Given the description of an element on the screen output the (x, y) to click on. 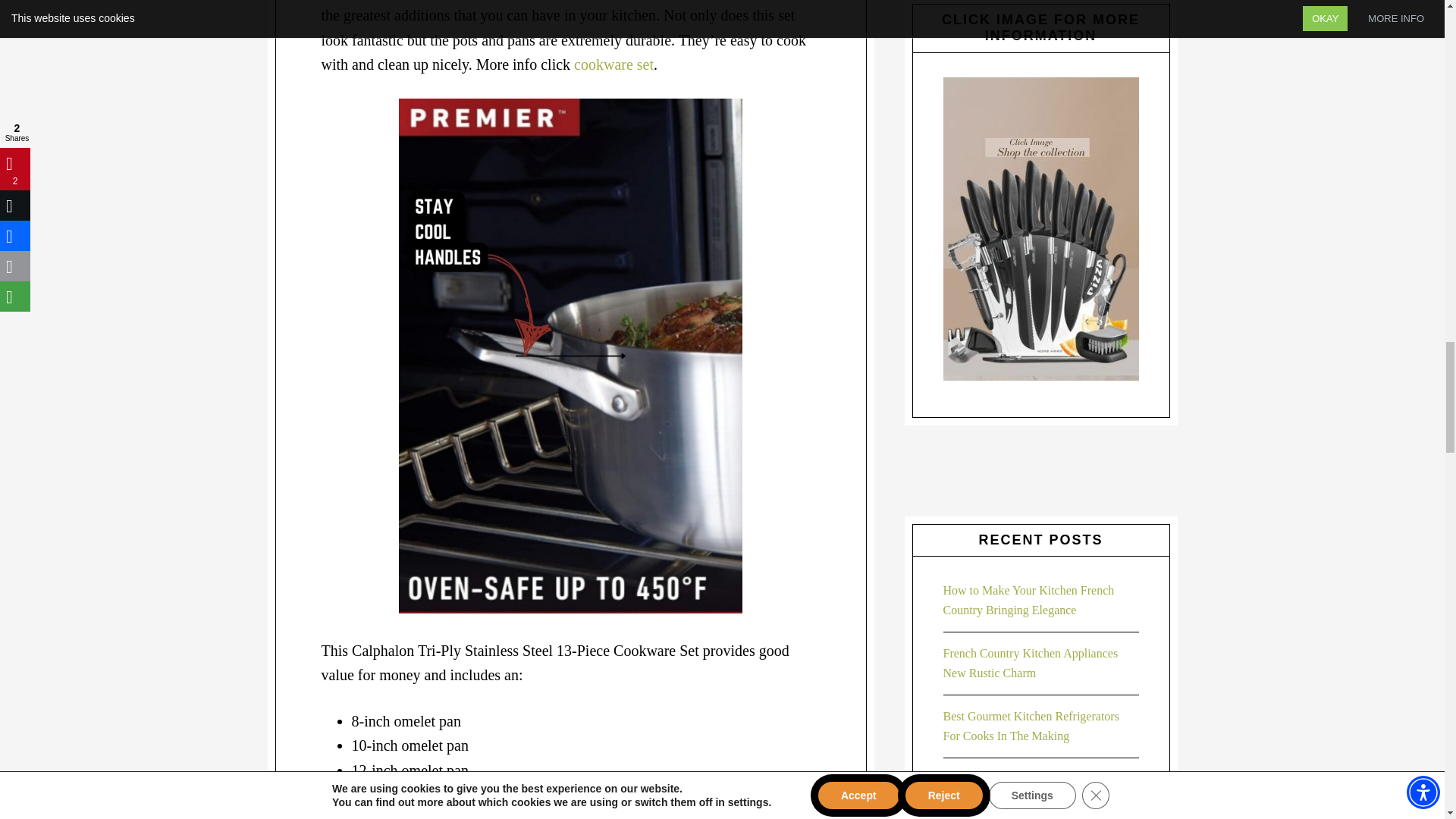
Is Calphalon Stainless Steel A Great Buy? 13 Piece Cookware (1031, 789)
French Country Kitchen Appliances New Rustic Charm (1030, 663)
Best Gourmet Kitchen Refrigerators For Cooks In The Making (1031, 726)
How to Make Your Kitchen French Country Bringing Elegance (1029, 599)
cookware set (613, 64)
